Given the description of an element on the screen output the (x, y) to click on. 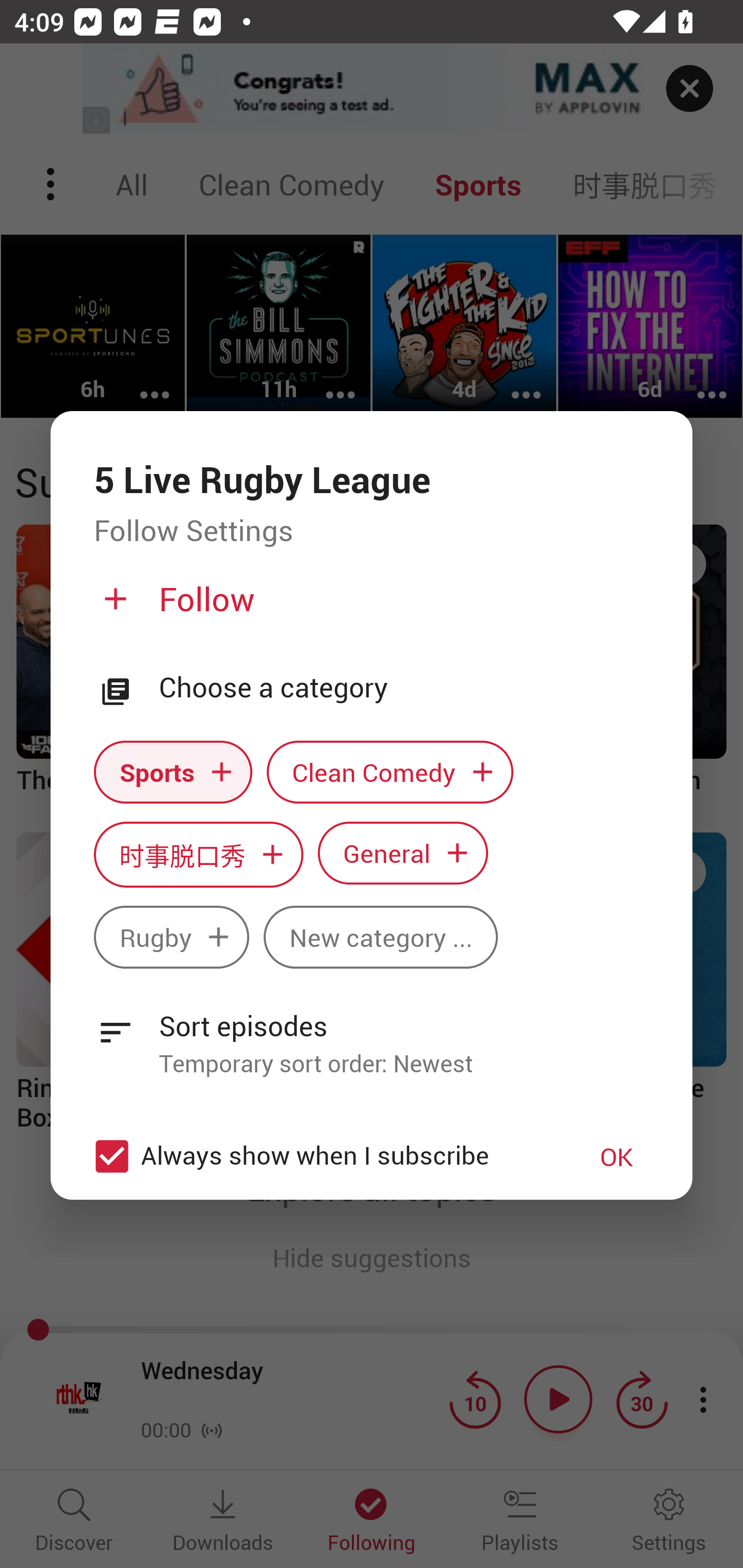
Follow (369, 606)
Choose a category (404, 688)
Sports (172, 771)
Clean Comedy (389, 771)
时事脱口秀 (198, 854)
General (403, 852)
Rugby (170, 937)
New category ... (380, 937)
Sort episodes Temporary sort order: Newest (371, 1033)
OK (616, 1156)
Always show when I subscribe (320, 1156)
